Given the description of an element on the screen output the (x, y) to click on. 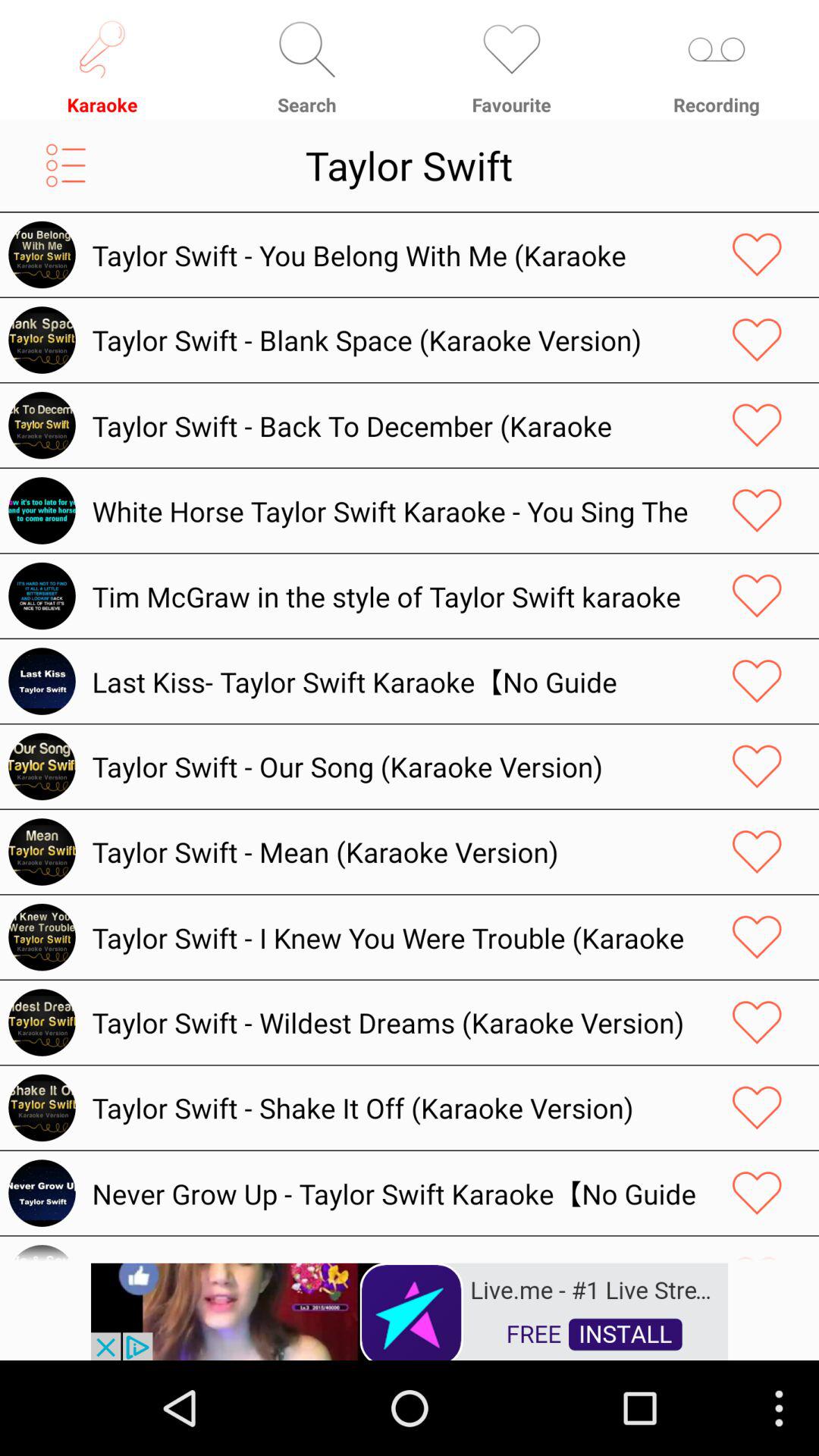
toggle like (756, 766)
